Given the description of an element on the screen output the (x, y) to click on. 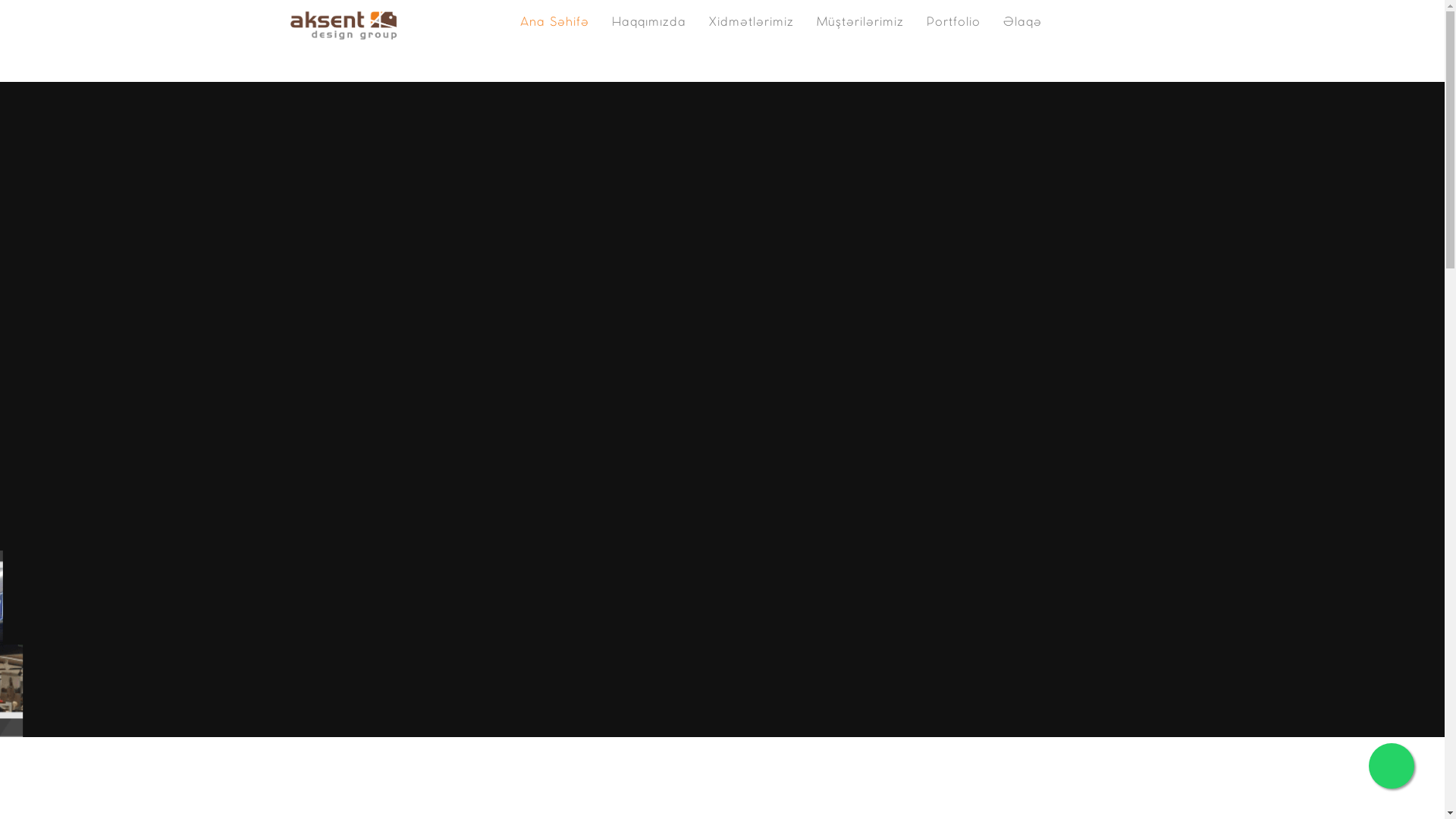
Portfolio Element type: text (953, 22)
Back to the article Element type: hover (47, 23)
Previous Demo Element type: hover (23, 23)
